Given the description of an element on the screen output the (x, y) to click on. 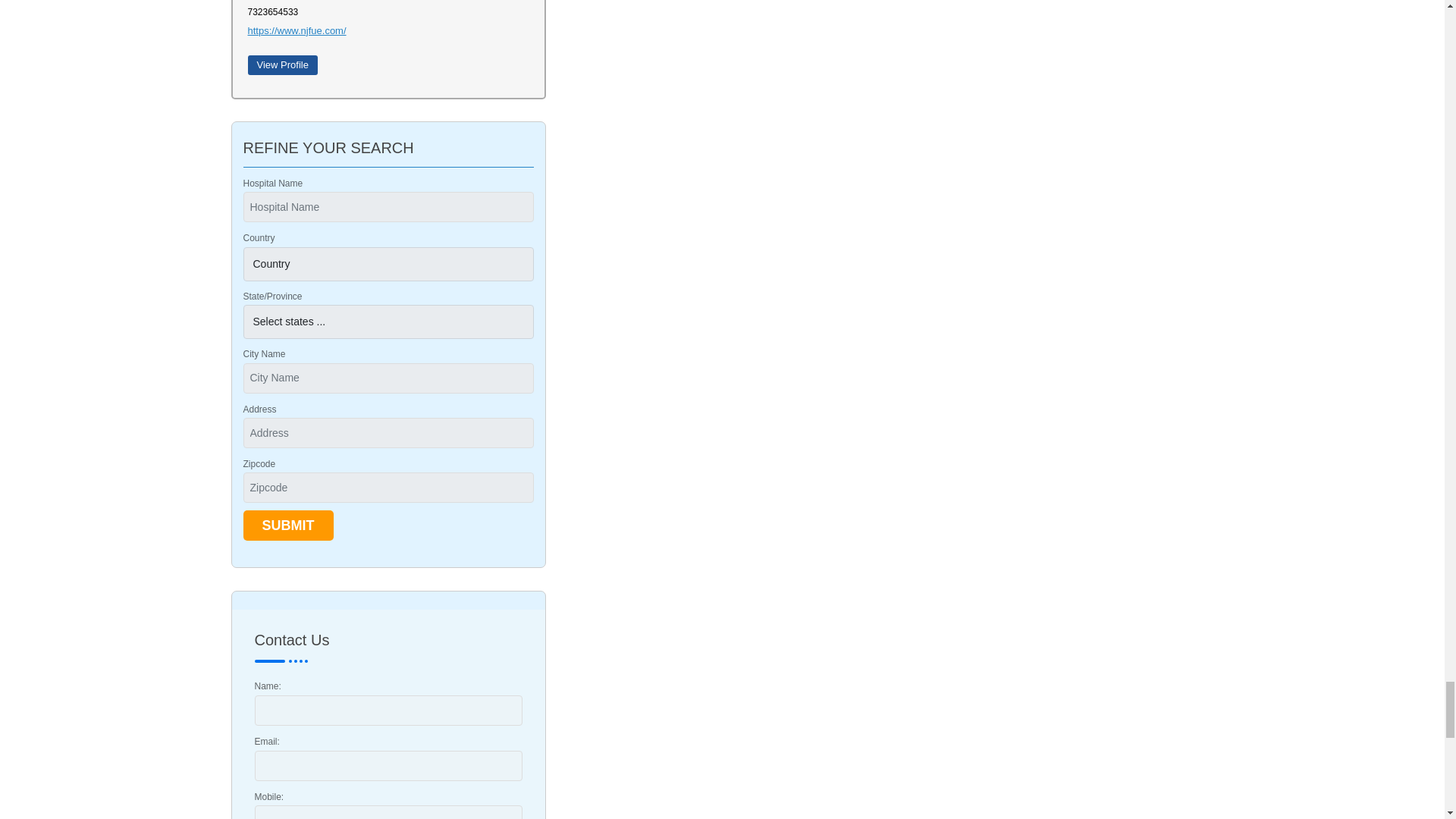
Submit (288, 525)
